Given the description of an element on the screen output the (x, y) to click on. 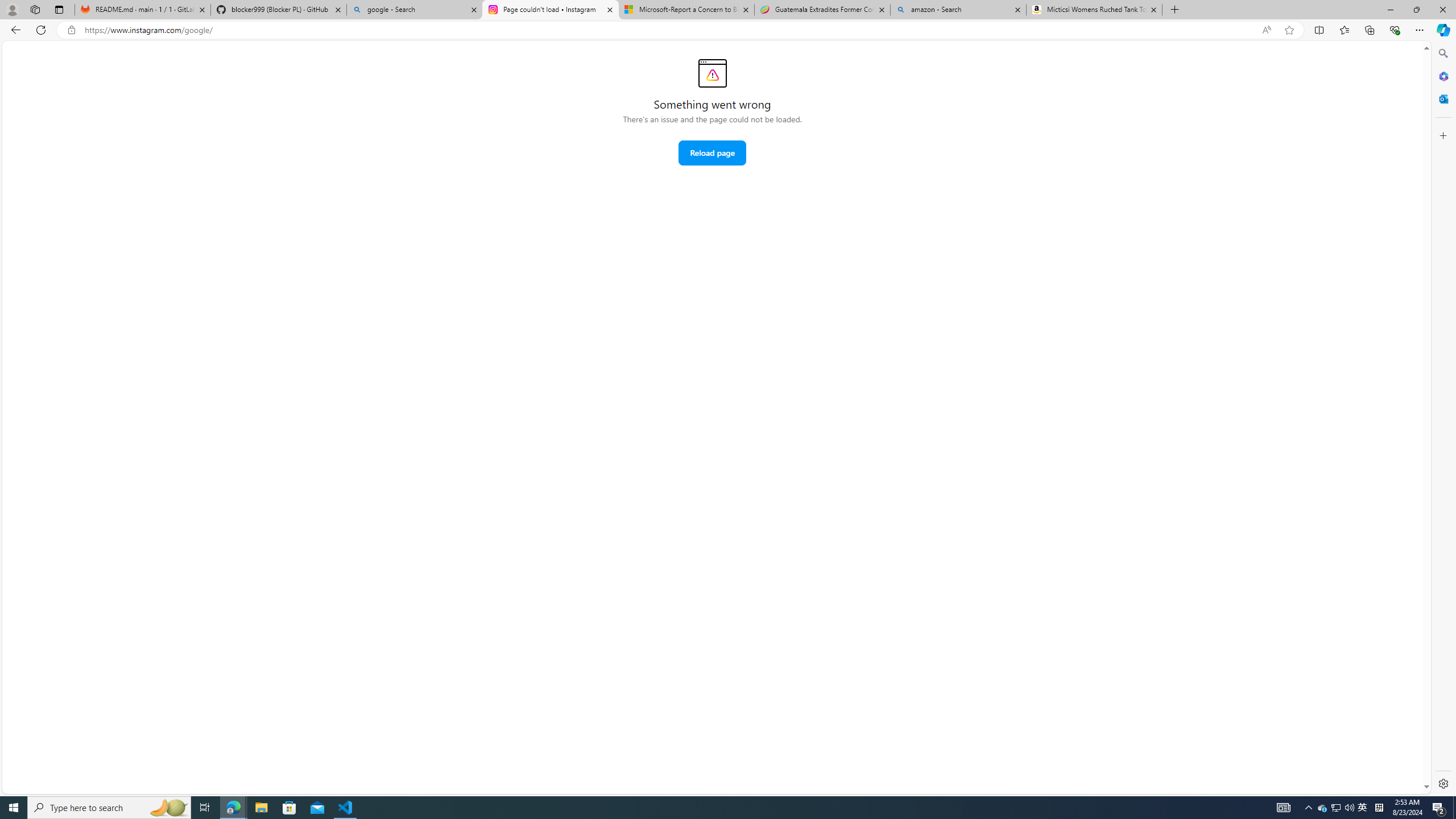
Collections (1369, 29)
Settings and more (Alt+F) (1419, 29)
Tab actions menu (58, 9)
Reload page (711, 152)
Copilot (Ctrl+Shift+.) (1442, 29)
Error (711, 72)
Address and search bar (669, 29)
Split screen (1318, 29)
Outlook (1442, 98)
Read aloud this page (Ctrl+Shift+U) (1266, 29)
App bar (728, 29)
Close (1442, 9)
Customize (1442, 135)
